Given the description of an element on the screen output the (x, y) to click on. 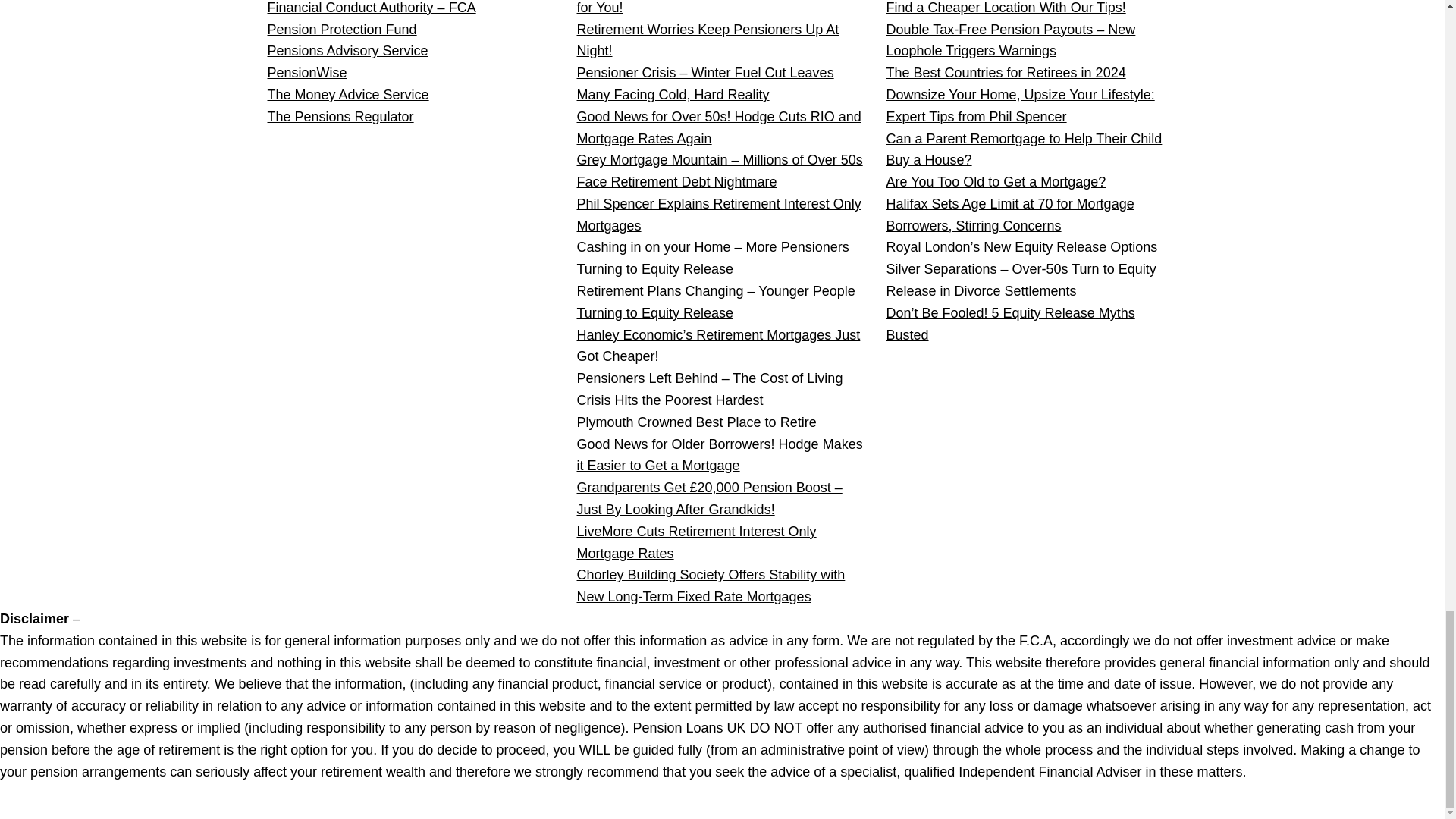
The Best Countries for Retirees in 2024 (1005, 72)
Pensions Advisory Service (347, 50)
Are You Too Old to Get a Mortgage? (995, 181)
The Money Advice Service (347, 94)
Phil Spencer Explains Retirement Interest Only Mortgages (718, 214)
Retirement Worries Keep Pensioners Up At Night! (707, 40)
Pension Protection Fund (341, 29)
PensionWise (306, 72)
LiveMore Cuts Retirement Interest Only Mortgage Rates (695, 542)
The Pensions Regulator (339, 116)
Plymouth Crowned Best Place to Retire (695, 421)
